Given the description of an element on the screen output the (x, y) to click on. 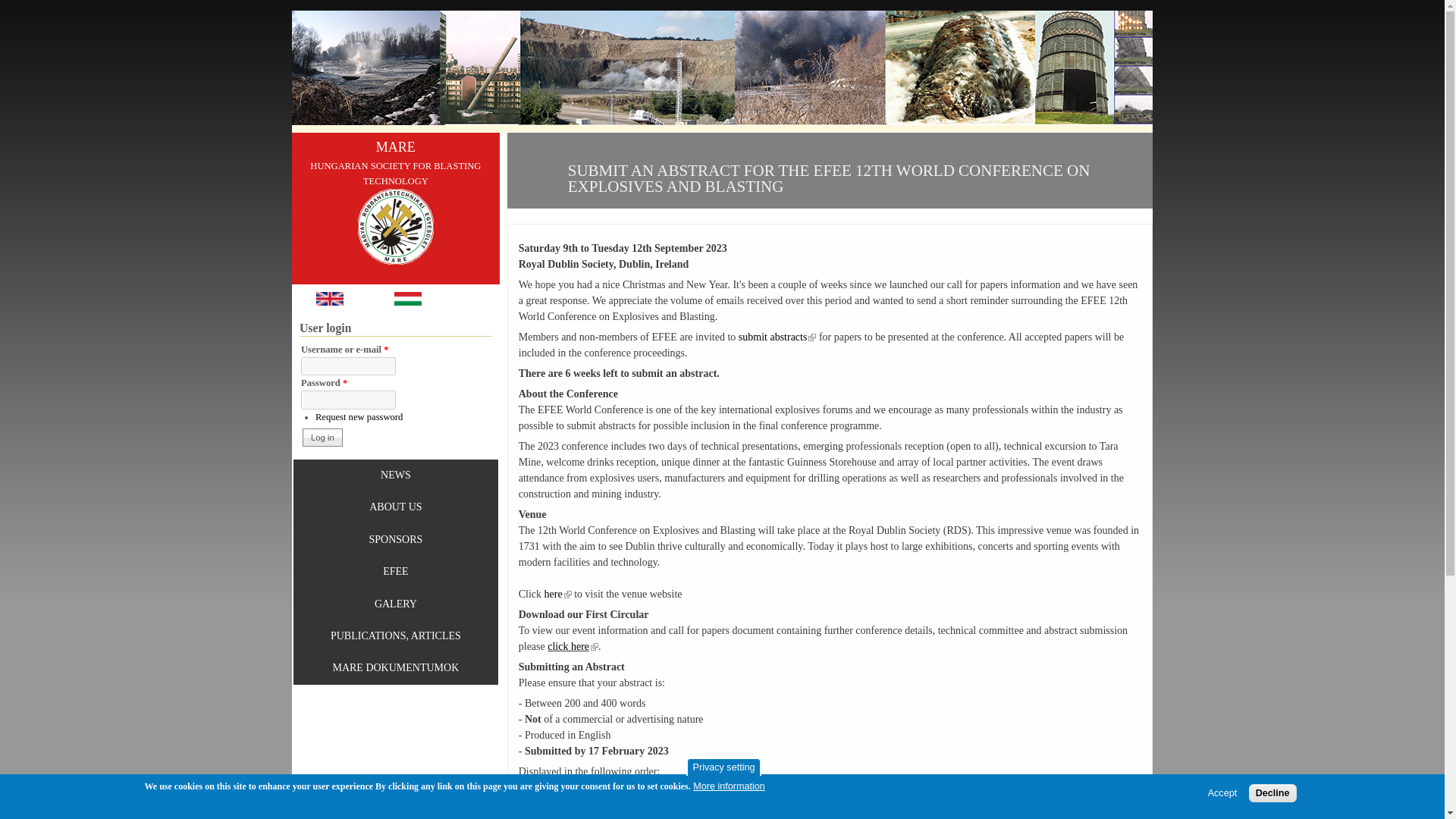
Request new password (359, 416)
Log in (322, 437)
ABOUT US (395, 506)
MARE DOKUMENTUMOK (395, 668)
Log in (322, 437)
GALERY (395, 604)
MARE dokumentumok (395, 668)
EFEE (395, 571)
MARE (395, 226)
